Given the description of an element on the screen output the (x, y) to click on. 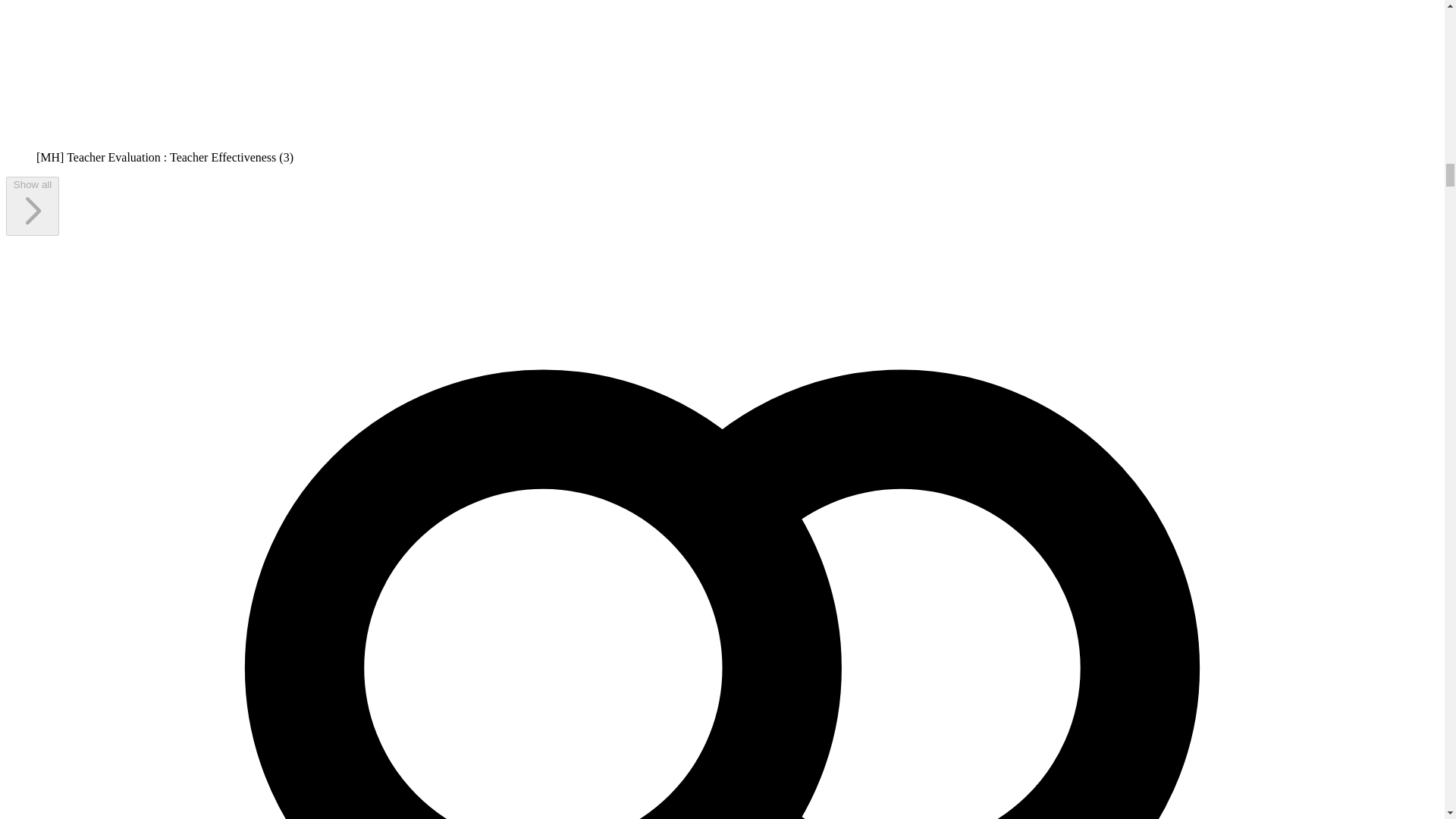
Show all (32, 205)
